Given the description of an element on the screen output the (x, y) to click on. 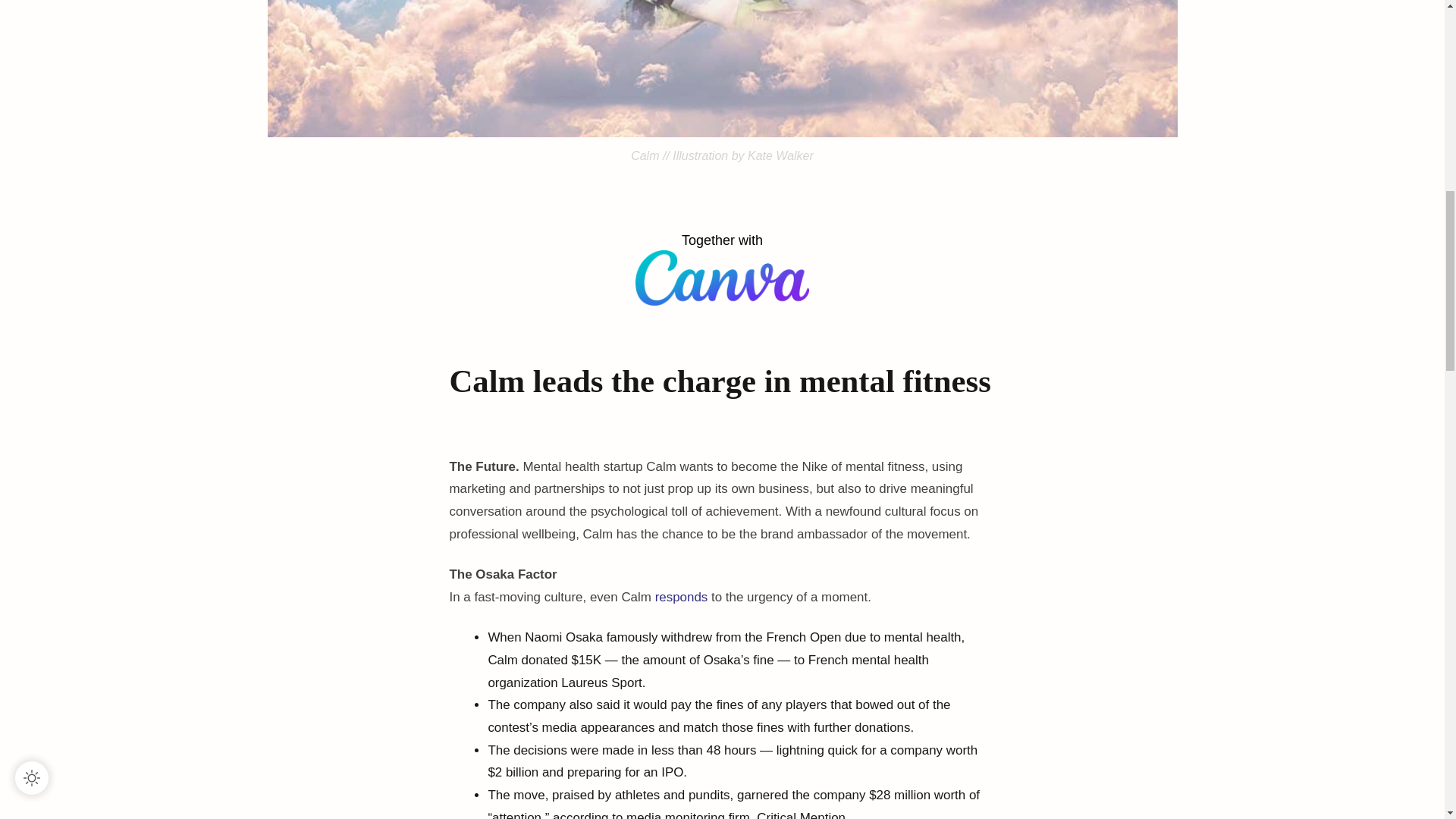
Back to top (1412, 28)
responds (681, 596)
